Given the description of an element on the screen output the (x, y) to click on. 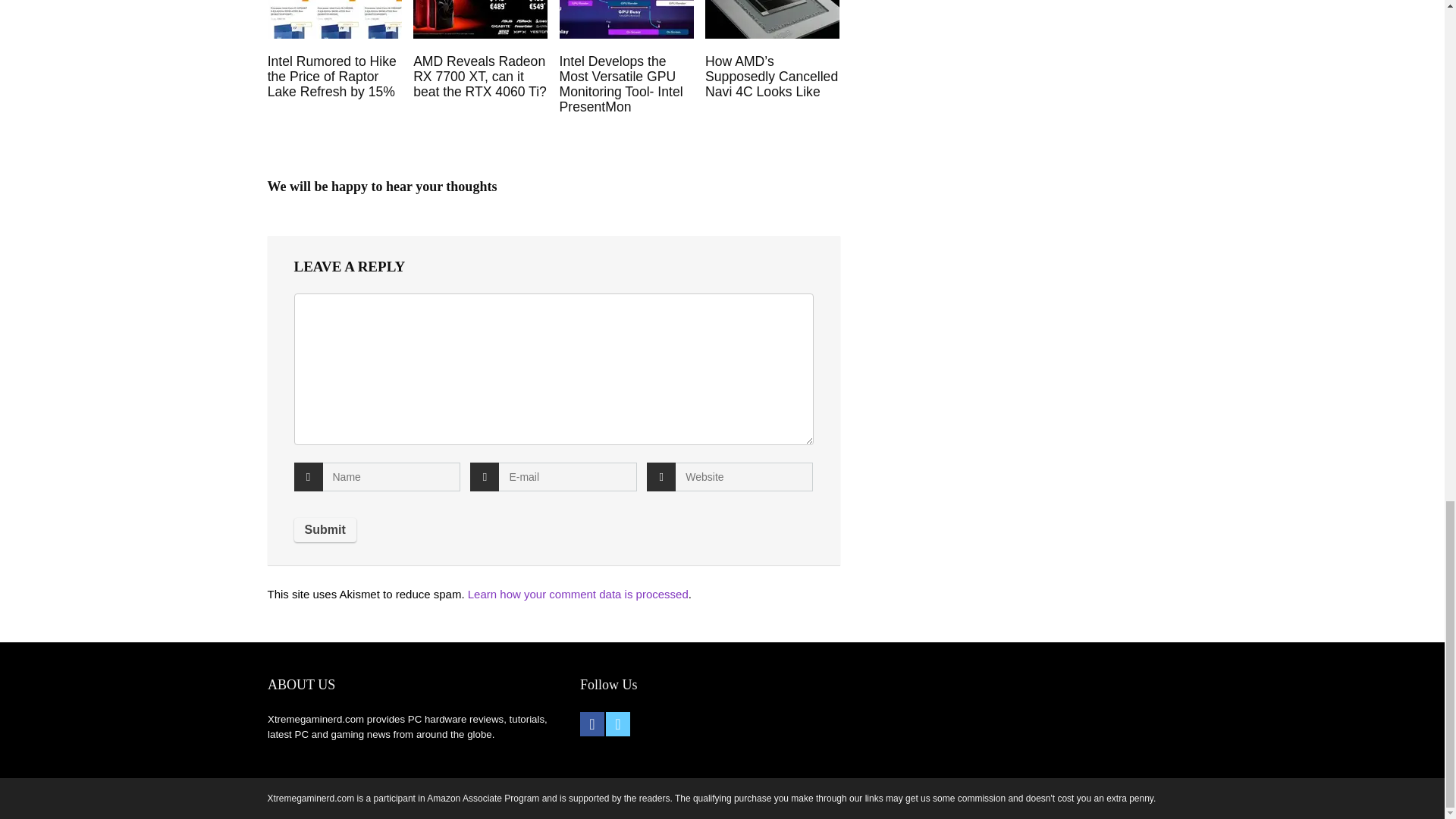
Submit (325, 529)
DMCA.com Protection Status (938, 699)
